Given the description of an element on the screen output the (x, y) to click on. 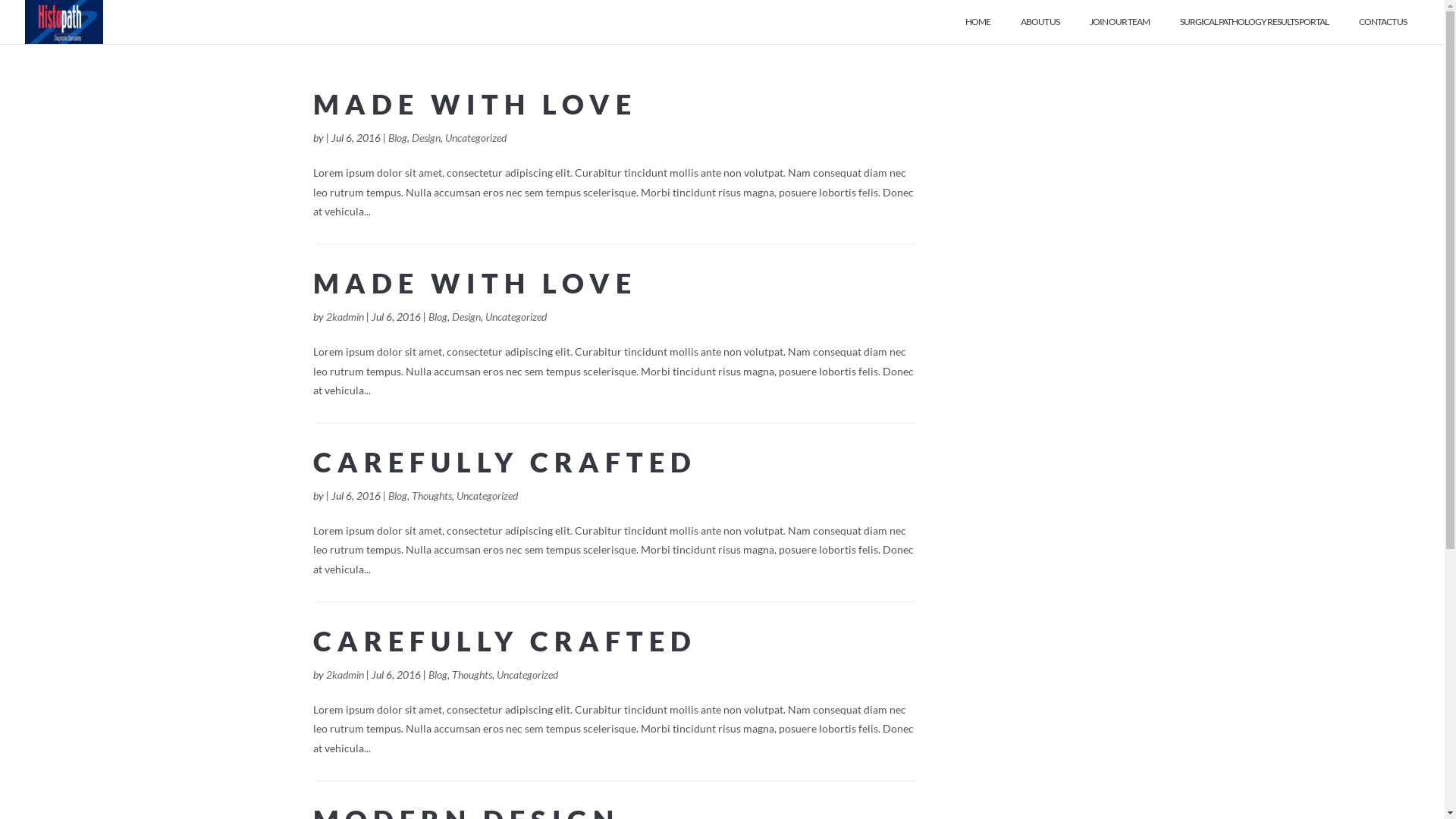
MADE WITH LOVE Element type: text (474, 103)
Design Element type: text (465, 316)
JOIN OUR TEAM Element type: text (1119, 29)
Thoughts Element type: text (431, 495)
Blog Element type: text (436, 316)
Uncategorized Element type: text (486, 495)
MADE WITH LOVE Element type: text (474, 282)
2kadmin Element type: text (345, 674)
Blog Element type: text (397, 137)
CAREFULLY CRAFTED Element type: text (504, 461)
Uncategorized Element type: text (474, 137)
2kadmin Element type: text (345, 316)
CAREFULLY CRAFTED Element type: text (504, 640)
Blog Element type: text (397, 495)
CONTACT US Element type: text (1382, 29)
ABOUT US Element type: text (1039, 29)
Uncategorized Element type: text (515, 316)
Thoughts Element type: text (471, 674)
HOME Element type: text (977, 29)
SURGICAL PATHOLOGY RESULTS PORTAL Element type: text (1253, 29)
Blog Element type: text (436, 674)
Design Element type: text (425, 137)
Uncategorized Element type: text (526, 674)
